Given the description of an element on the screen output the (x, y) to click on. 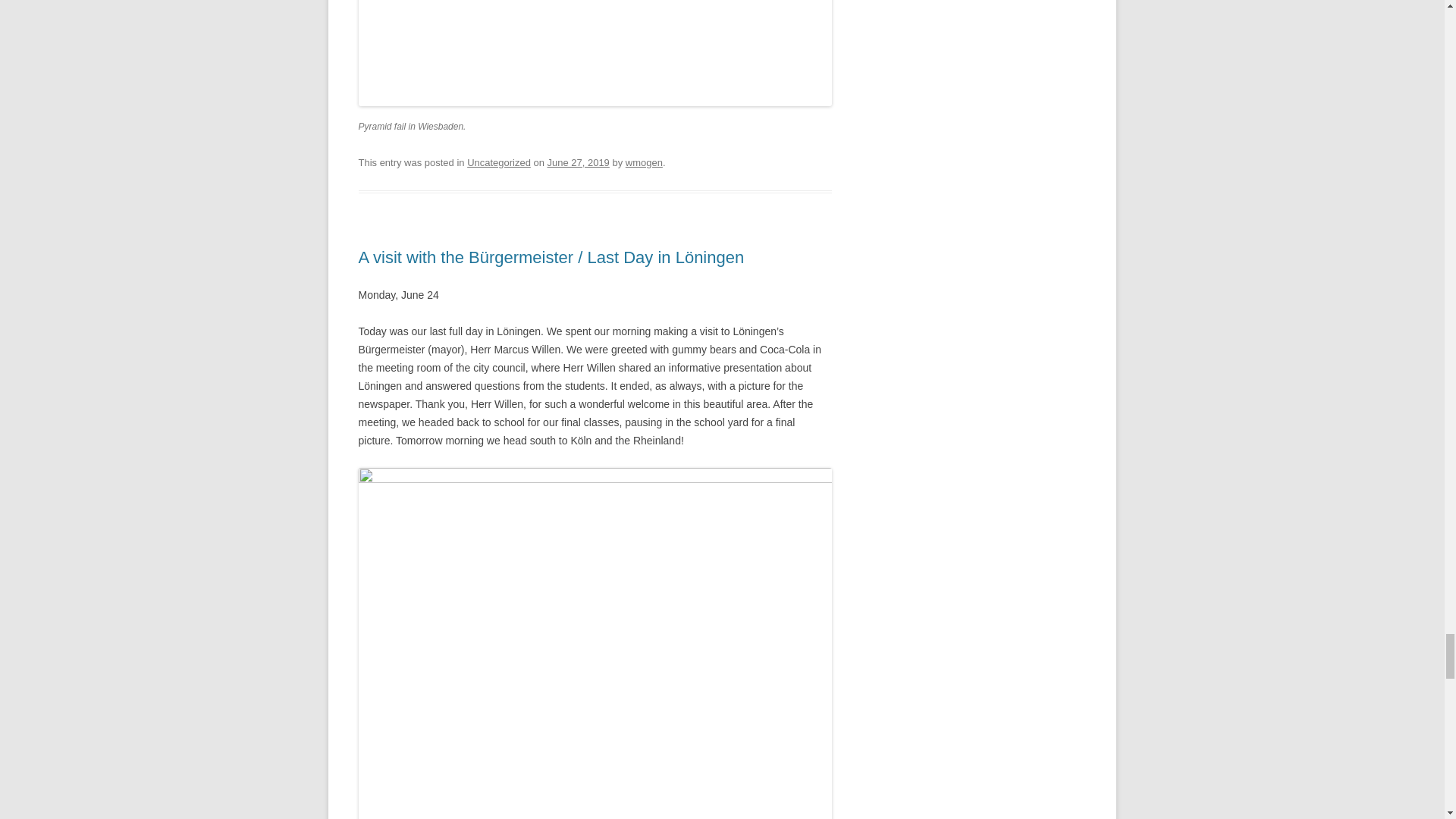
View all posts by wmogen (644, 162)
Uncategorized (499, 162)
June 27, 2019 (578, 162)
wmogen (644, 162)
12:52 pm (578, 162)
